Given the description of an element on the screen output the (x, y) to click on. 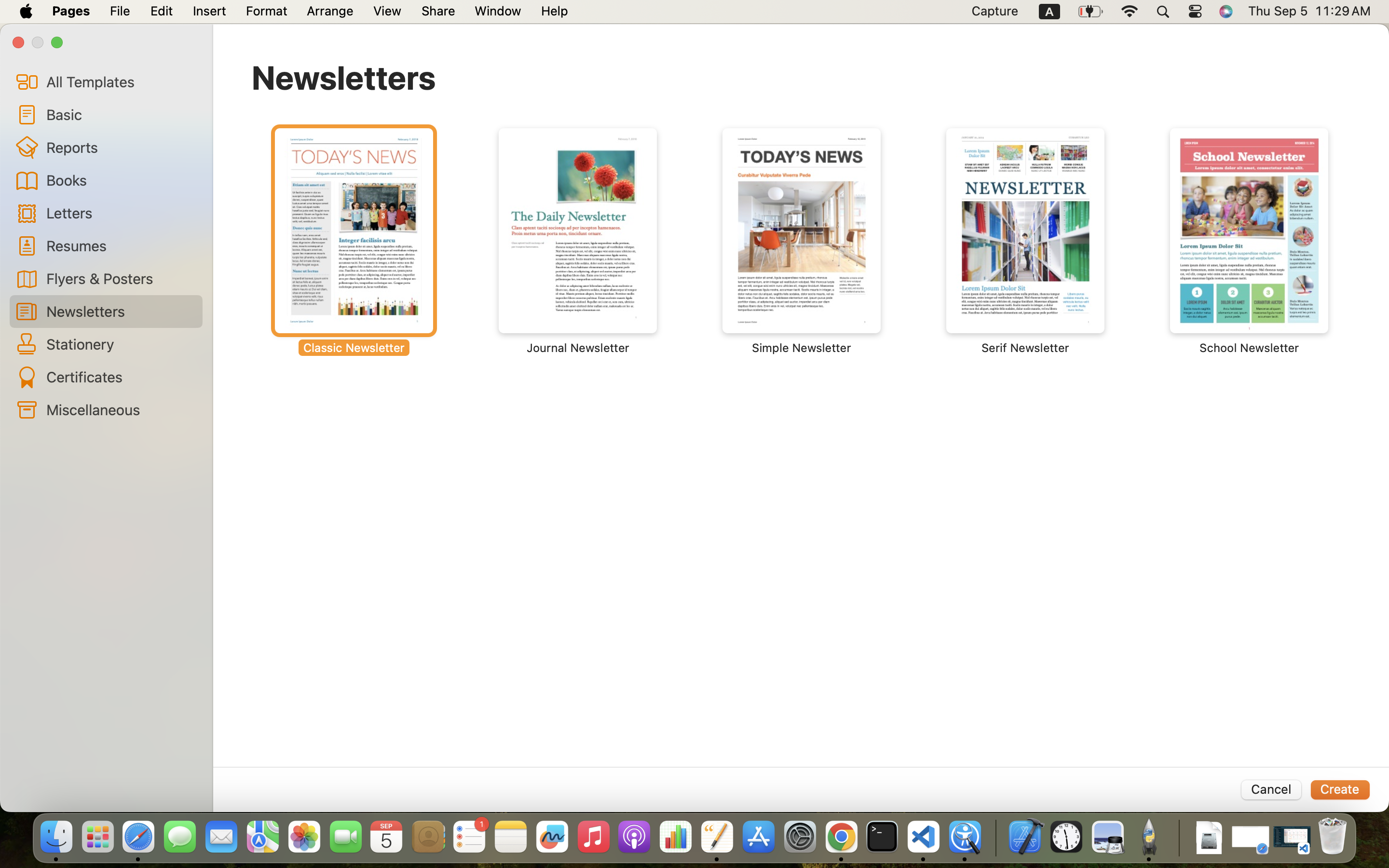
‎⁨Classic Newsletter⁩ Element type: AXButton (353, 241)
‎⁨School Newsletter⁩ Element type: AXButton (1249, 241)
Resumes Element type: AXStaticText (120, 245)
Letters Element type: AXStaticText (120, 212)
Stationery Element type: AXStaticText (120, 343)
